Given the description of an element on the screen output the (x, y) to click on. 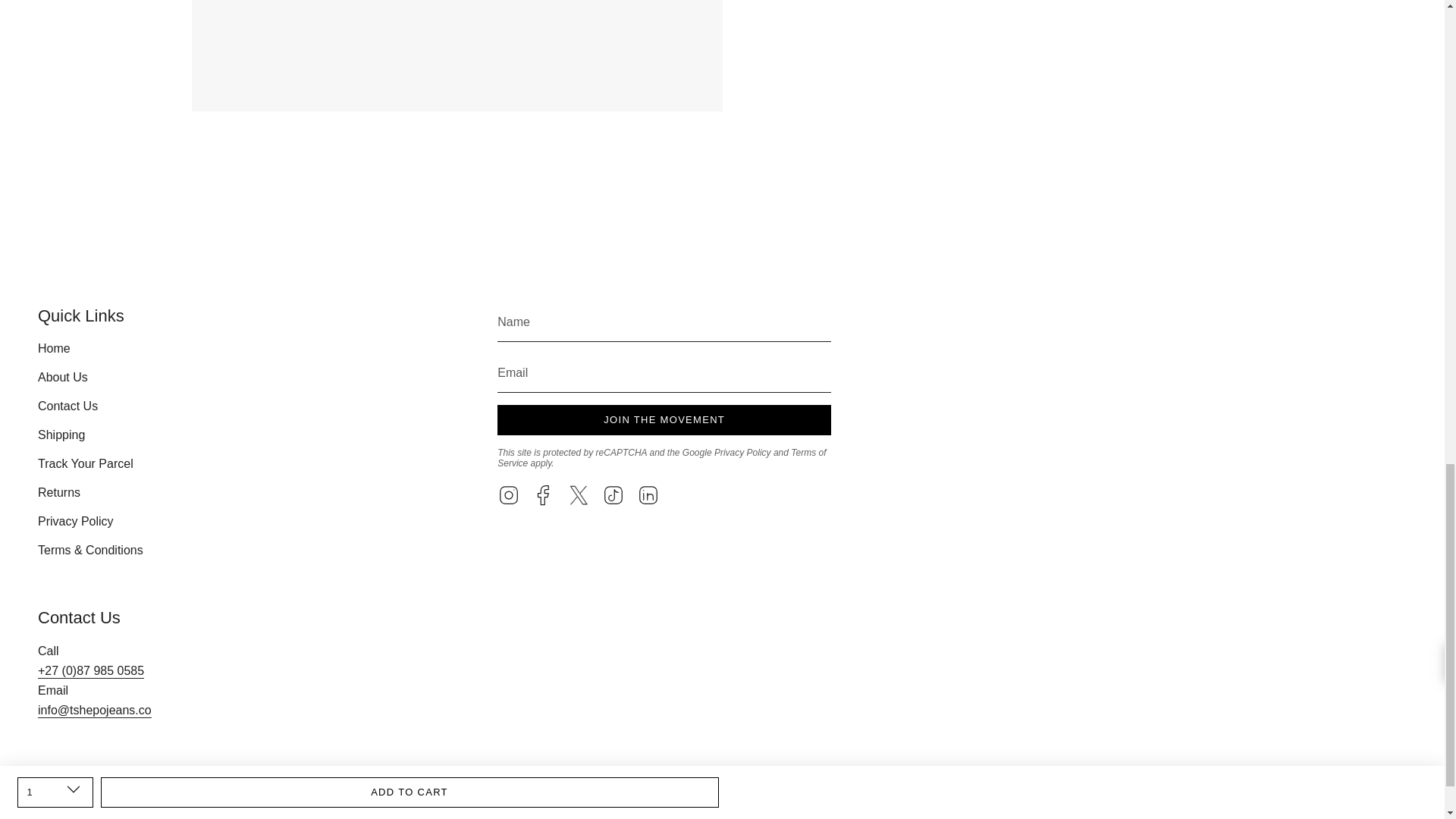
TSHEPO on TikTok (613, 493)
TSHEPO on Twitter (578, 493)
TSHEPO on Linkedin (648, 493)
TSHEPO on Facebook (543, 493)
TSHEPO on Instagram (508, 493)
